Given the description of an element on the screen output the (x, y) to click on. 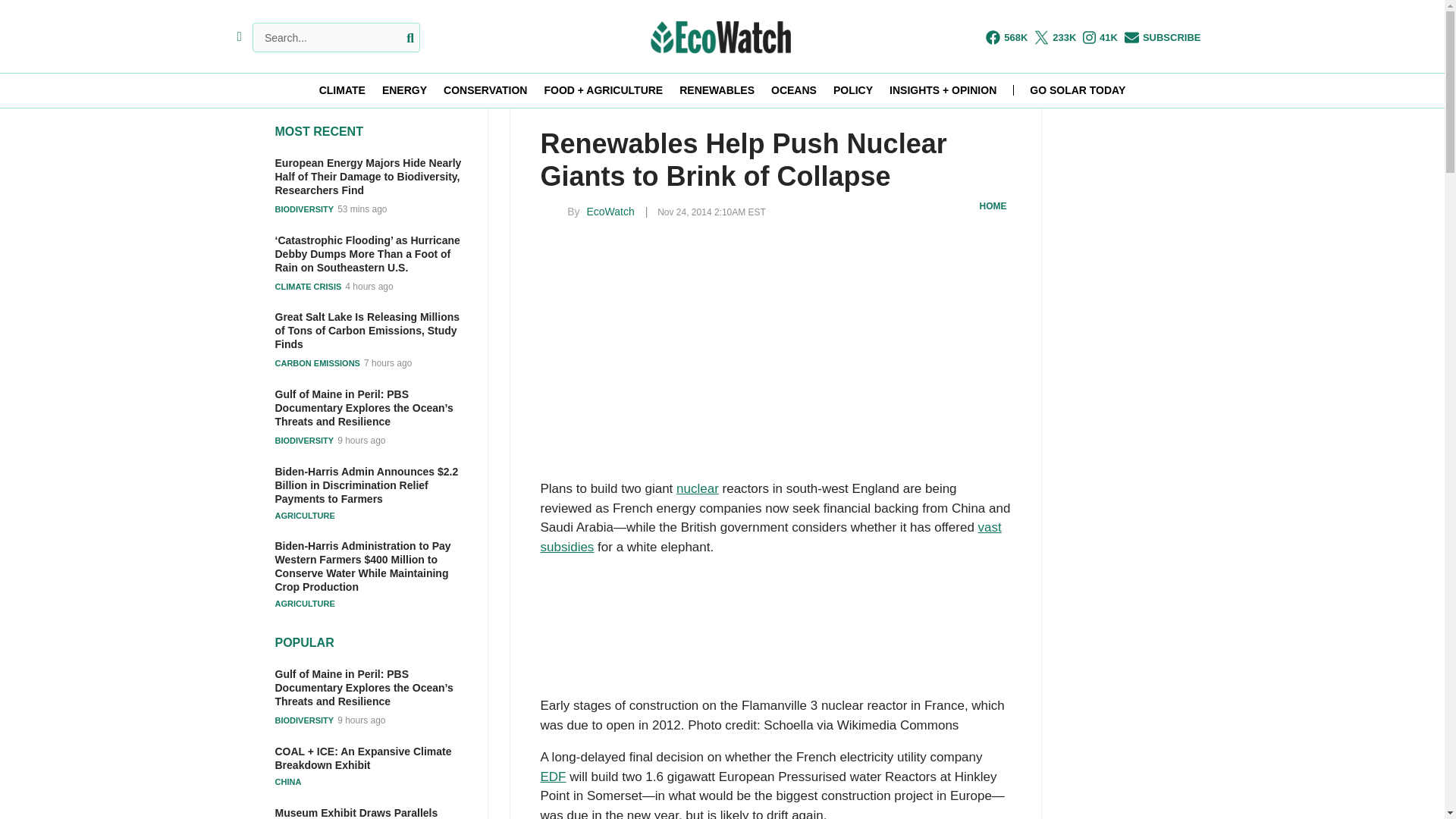
41K (1099, 37)
CLIMATE (341, 90)
OCEANS (793, 90)
568K (1006, 37)
EDF (553, 776)
POLICY (852, 90)
CONSERVATION (485, 90)
SUBSCRIBE (1162, 37)
RENEWABLES (716, 90)
233K (1054, 37)
GO SOLAR TODAY (1077, 90)
ENERGY (403, 90)
